Given the description of an element on the screen output the (x, y) to click on. 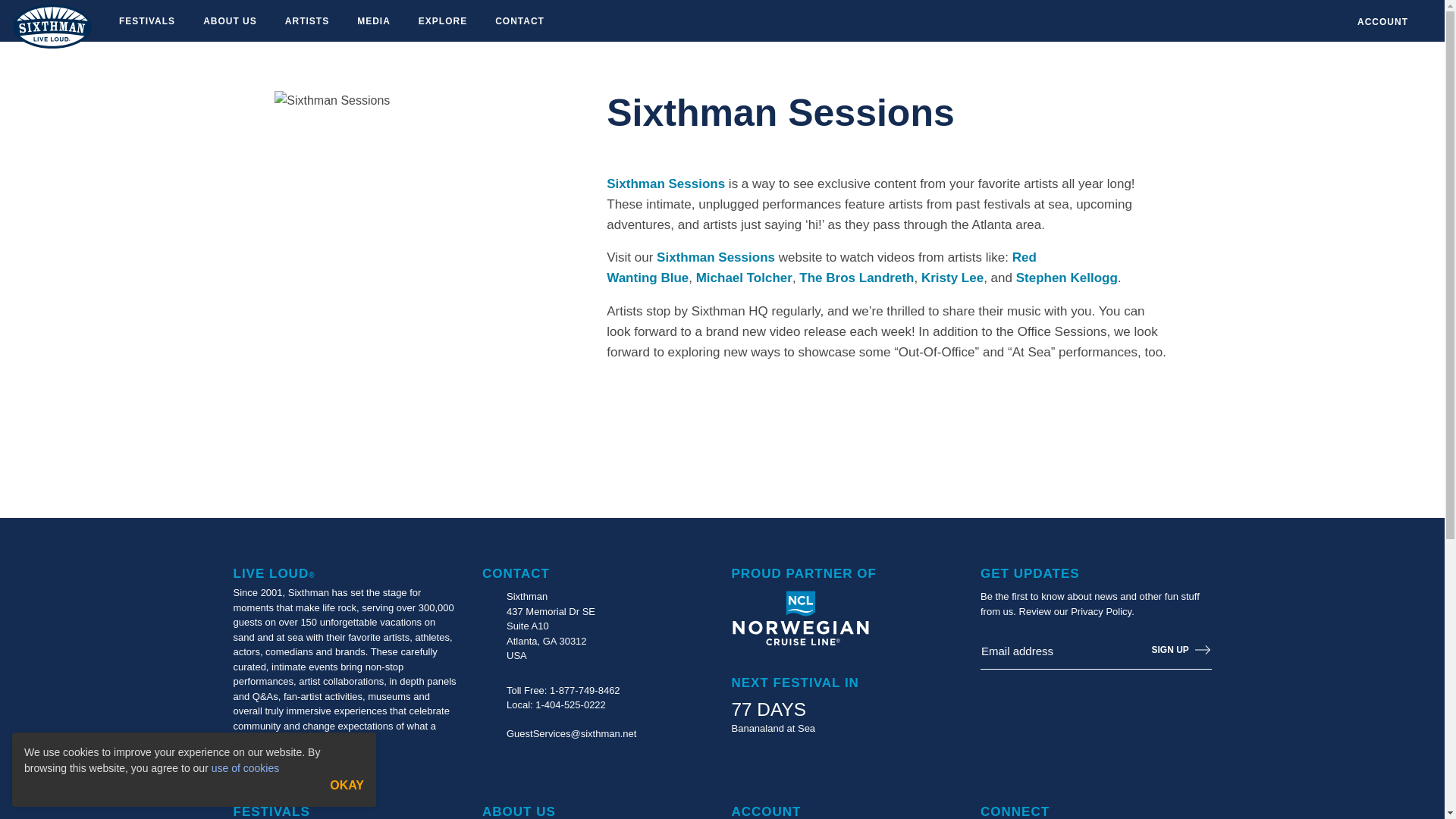
Bananaland at Sea (772, 727)
Norwegian Cruise Line (799, 618)
Sixthman (52, 25)
